Given the description of an element on the screen output the (x, y) to click on. 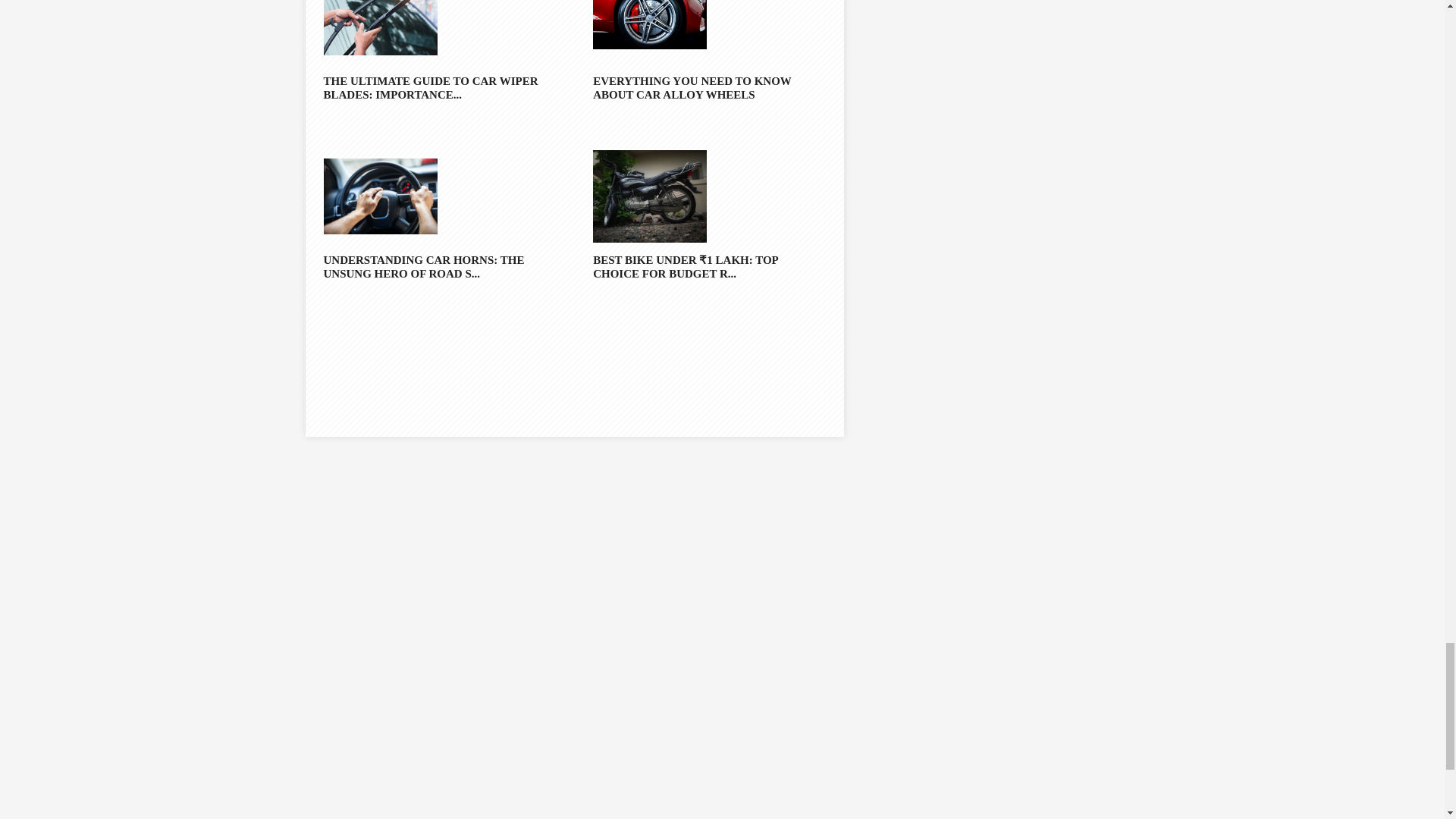
THE ULTIMATE GUIDE TO CAR WIPER BLADES: IMPORTANCE... (438, 87)
EVERYTHING YOU NEED TO KNOW ABOUT CAR ALLOY WHEELS (708, 87)
UNDERSTANDING CAR HORNS: THE UNSUNG HERO OF ROAD S... (438, 266)
